Given the description of an element on the screen output the (x, y) to click on. 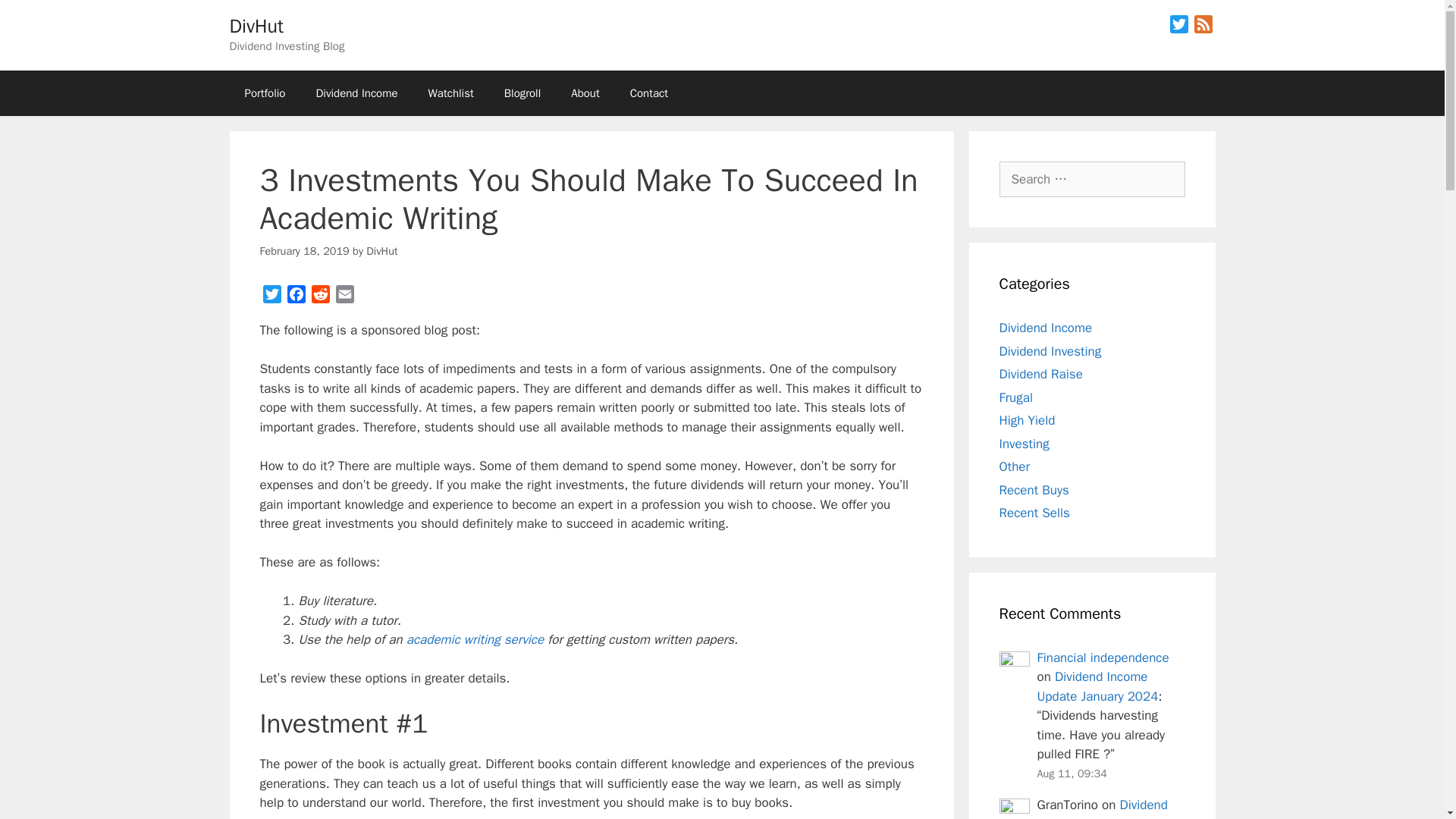
Dividend Raise (1040, 374)
Watchlist (451, 92)
Reddit (319, 296)
Email (343, 296)
Twitter (1178, 26)
Facebook (295, 296)
Twitter (1178, 26)
High Yield (1026, 420)
DivHut (255, 25)
About (585, 92)
